Given the description of an element on the screen output the (x, y) to click on. 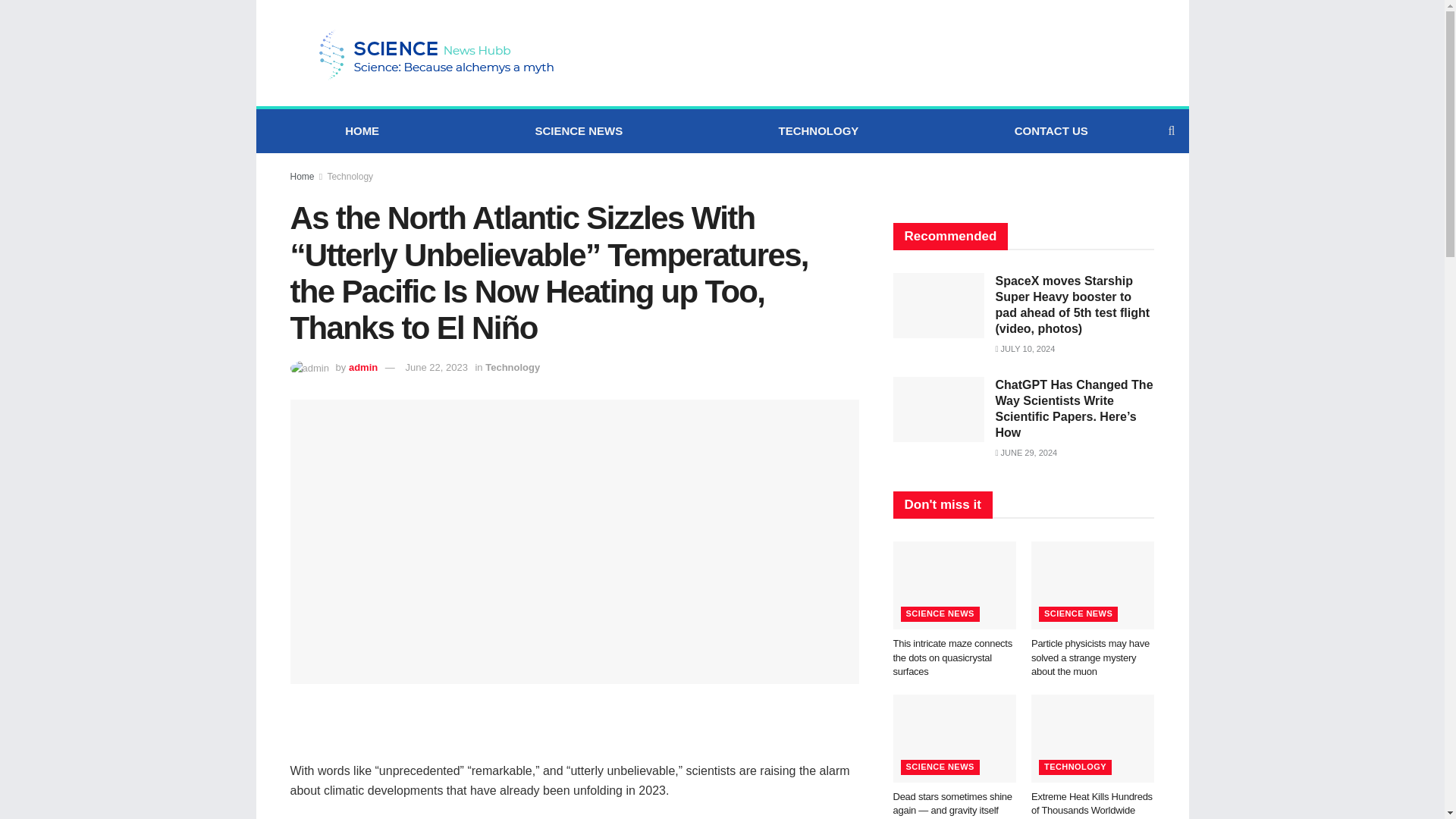
admin (363, 367)
June 22, 2023 (435, 367)
HOME (361, 130)
CONTACT US (1051, 130)
Technology (349, 176)
Home (301, 176)
SCIENCE NEWS (578, 130)
Technology (512, 367)
TECHNOLOGY (818, 130)
